Given the description of an element on the screen output the (x, y) to click on. 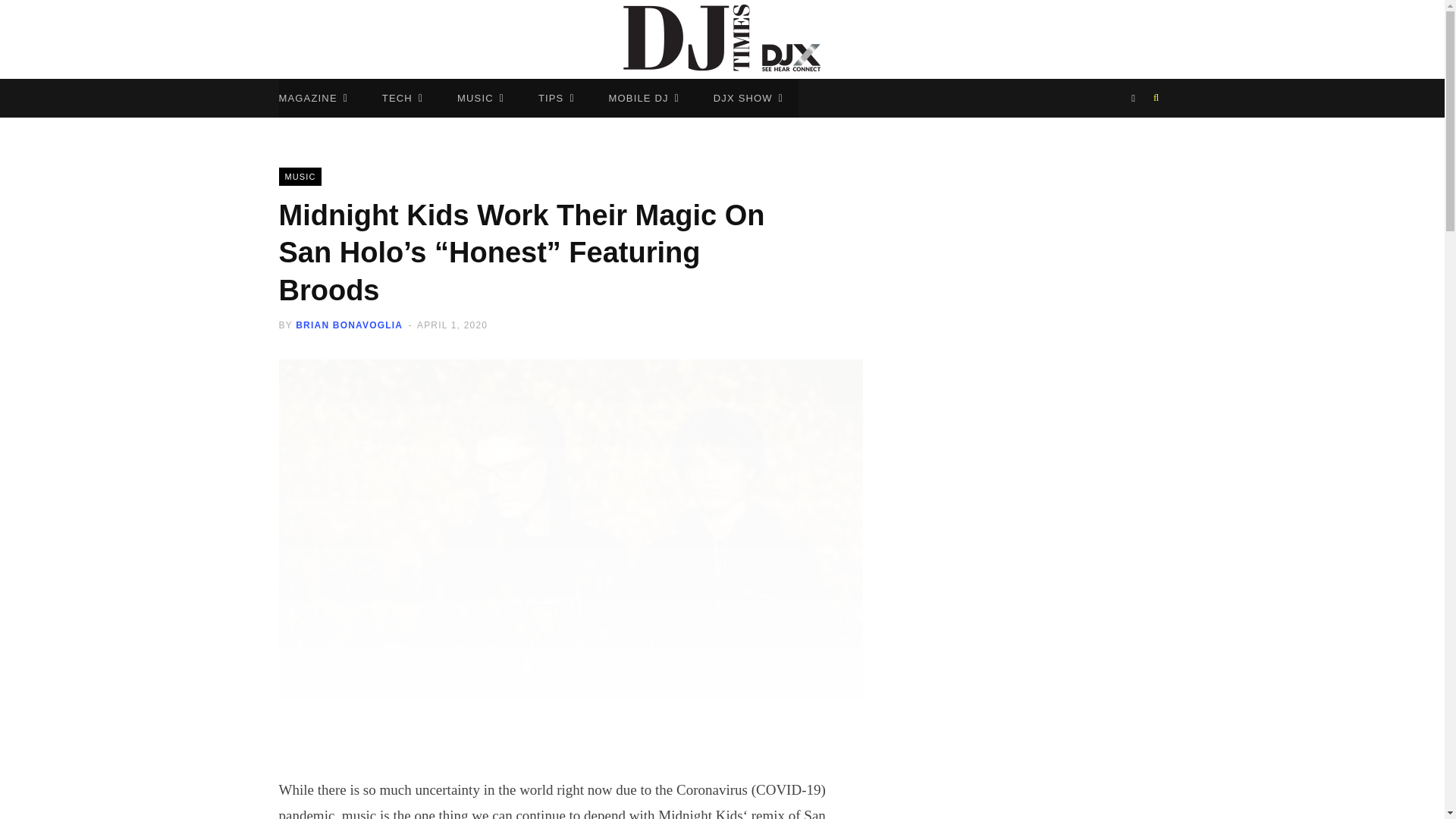
MAGAZINE (313, 97)
The Nexus of All Things DJ (722, 39)
